Given the description of an element on the screen output the (x, y) to click on. 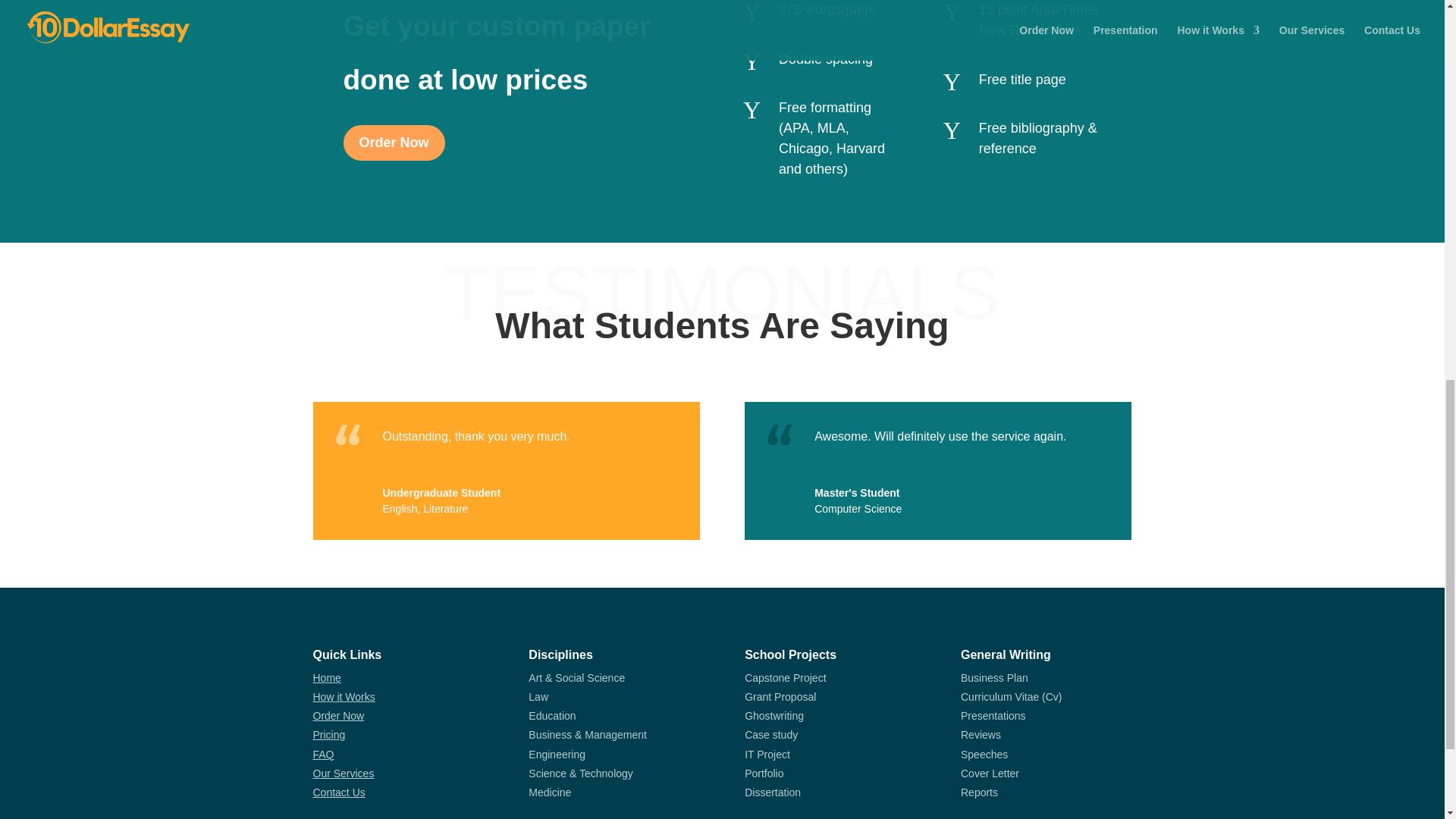
Our Services (343, 773)
Order Now (338, 715)
FAQ (323, 754)
Contact Us (339, 792)
Home (326, 677)
Pricing (329, 734)
How it Works (343, 696)
Order Now (393, 142)
